Given the description of an element on the screen output the (x, y) to click on. 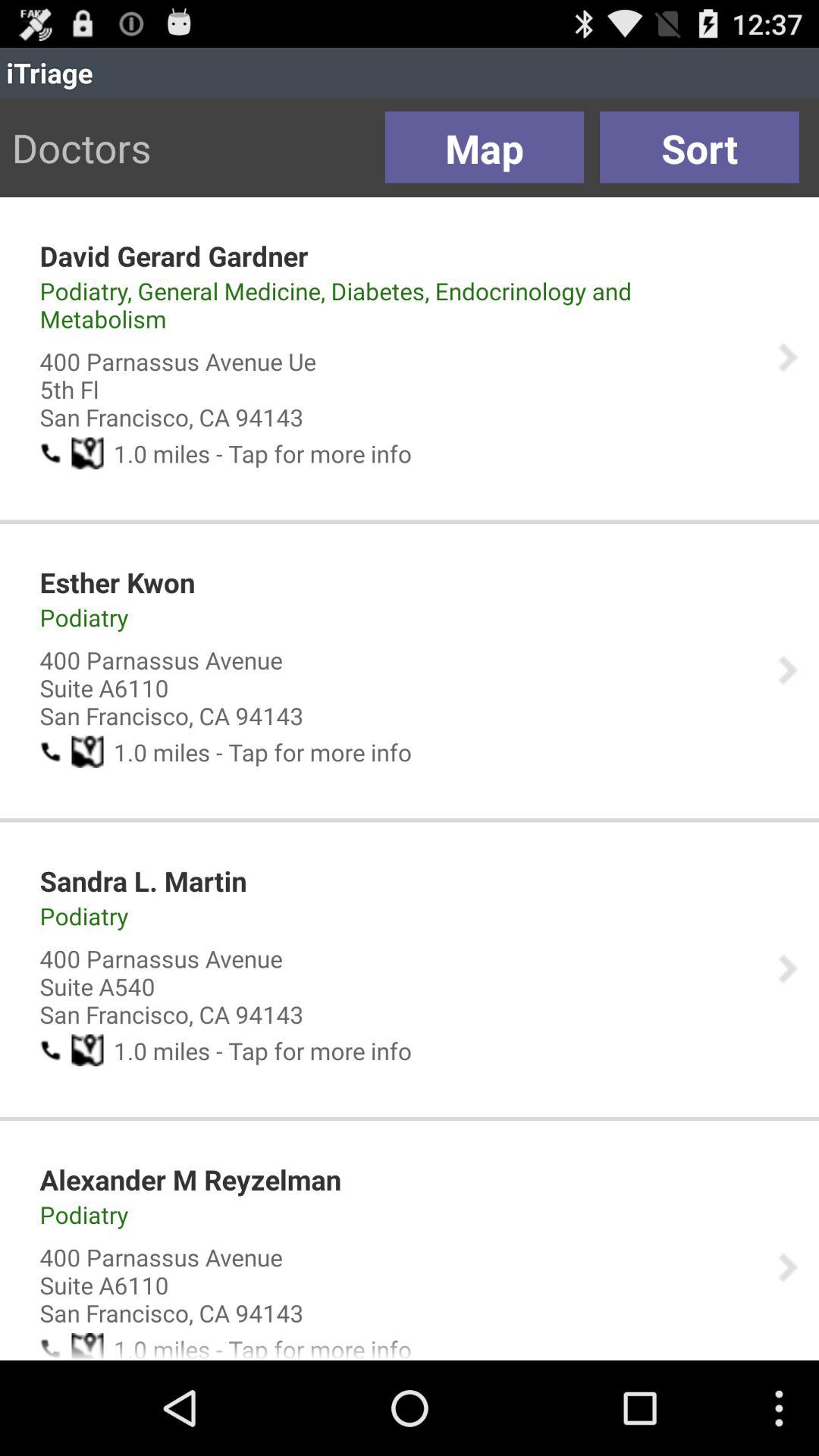
scroll to the esther kwon item (117, 582)
